Given the description of an element on the screen output the (x, y) to click on. 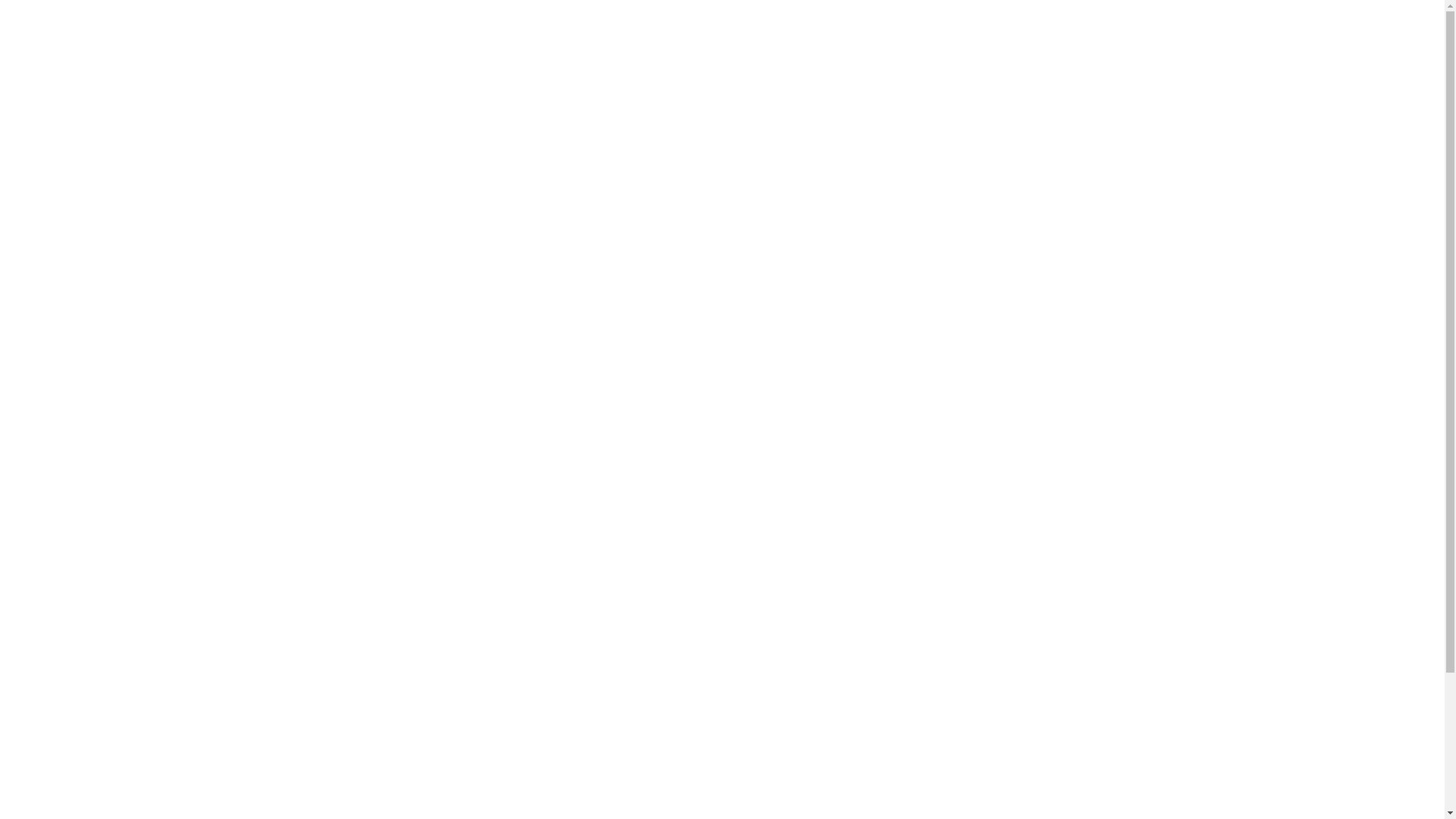
Manuals Element type: text (253, 25)
Official Website Element type: text (534, 25)
Dashboard Element type: text (152, 25)
FAQ Element type: text (336, 25)
Download PDF version Element type: text (125, 320)
Log in Element type: text (1352, 25)
Training Element type: text (417, 25)
